Given the description of an element on the screen output the (x, y) to click on. 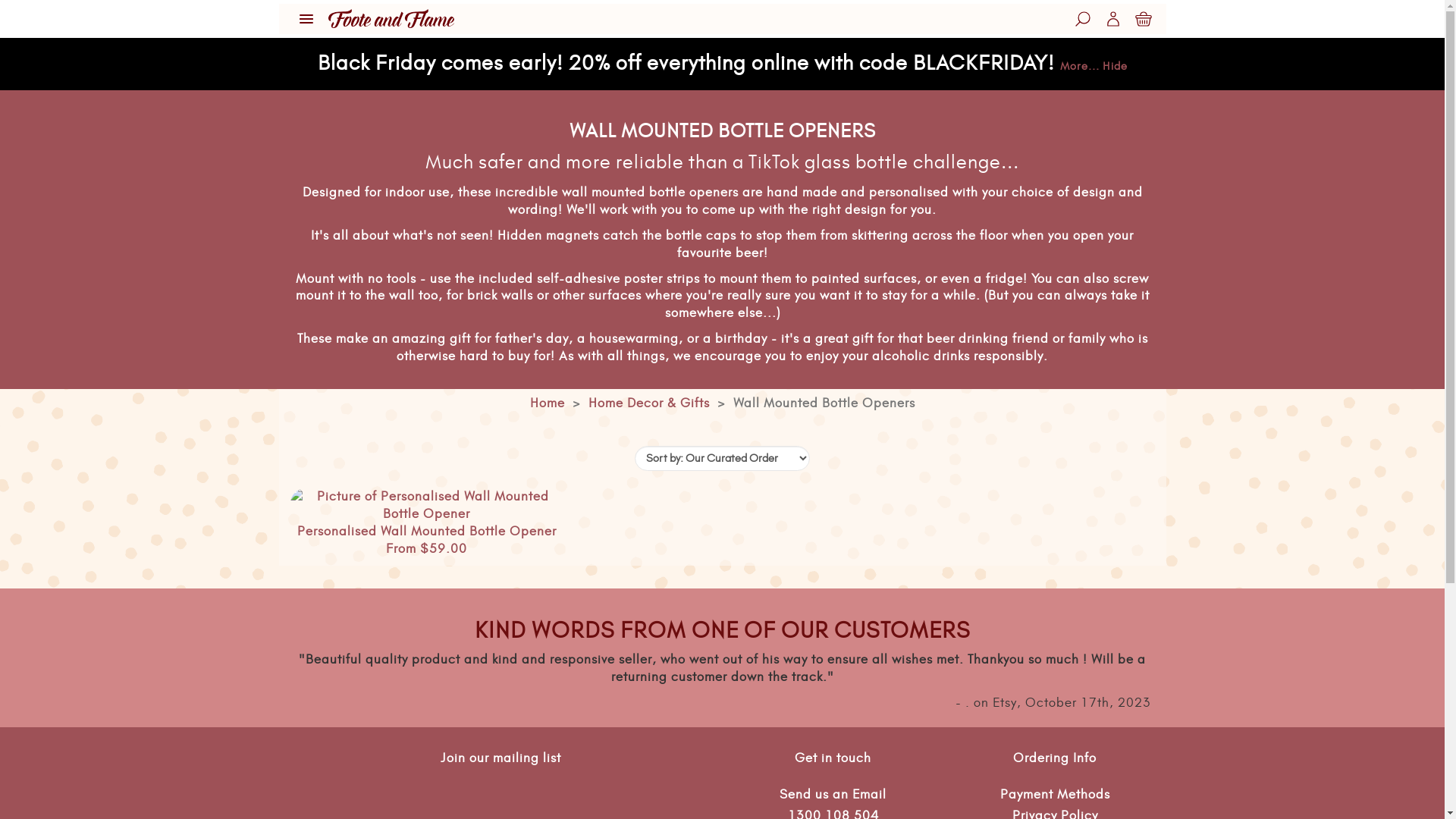
Send us an Email Element type: text (832, 794)
Hide Element type: text (1114, 66)
Personalised Wall Mounted Bottle Opener
From $59.00 Element type: text (425, 521)
More... Element type: text (1079, 66)
Payment Methods Element type: text (1055, 794)
Home Decor & Gifts Element type: text (648, 403)
Home Element type: text (546, 403)
